Given the description of an element on the screen output the (x, y) to click on. 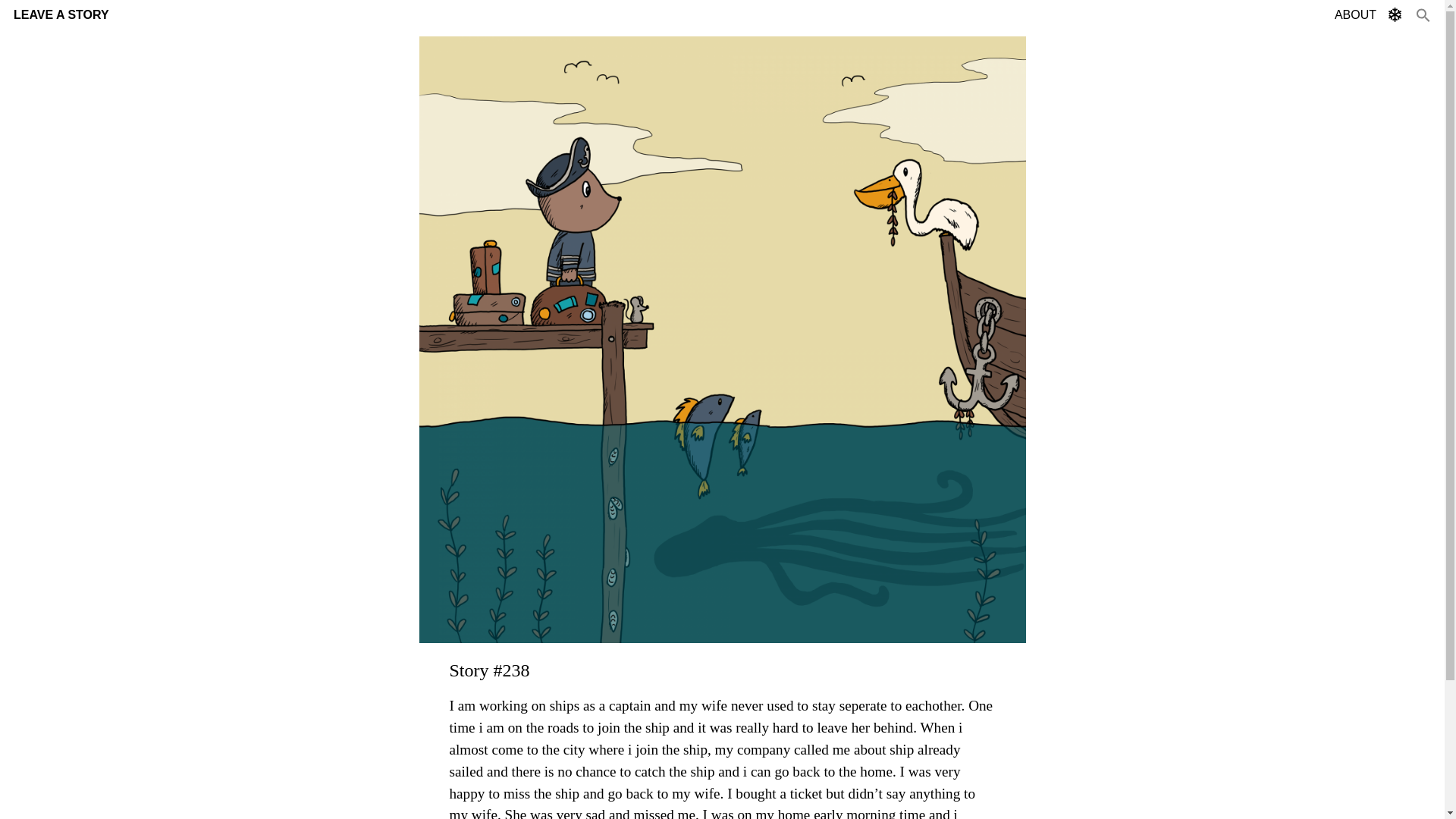
ABOUT (1355, 14)
